Given the description of an element on the screen output the (x, y) to click on. 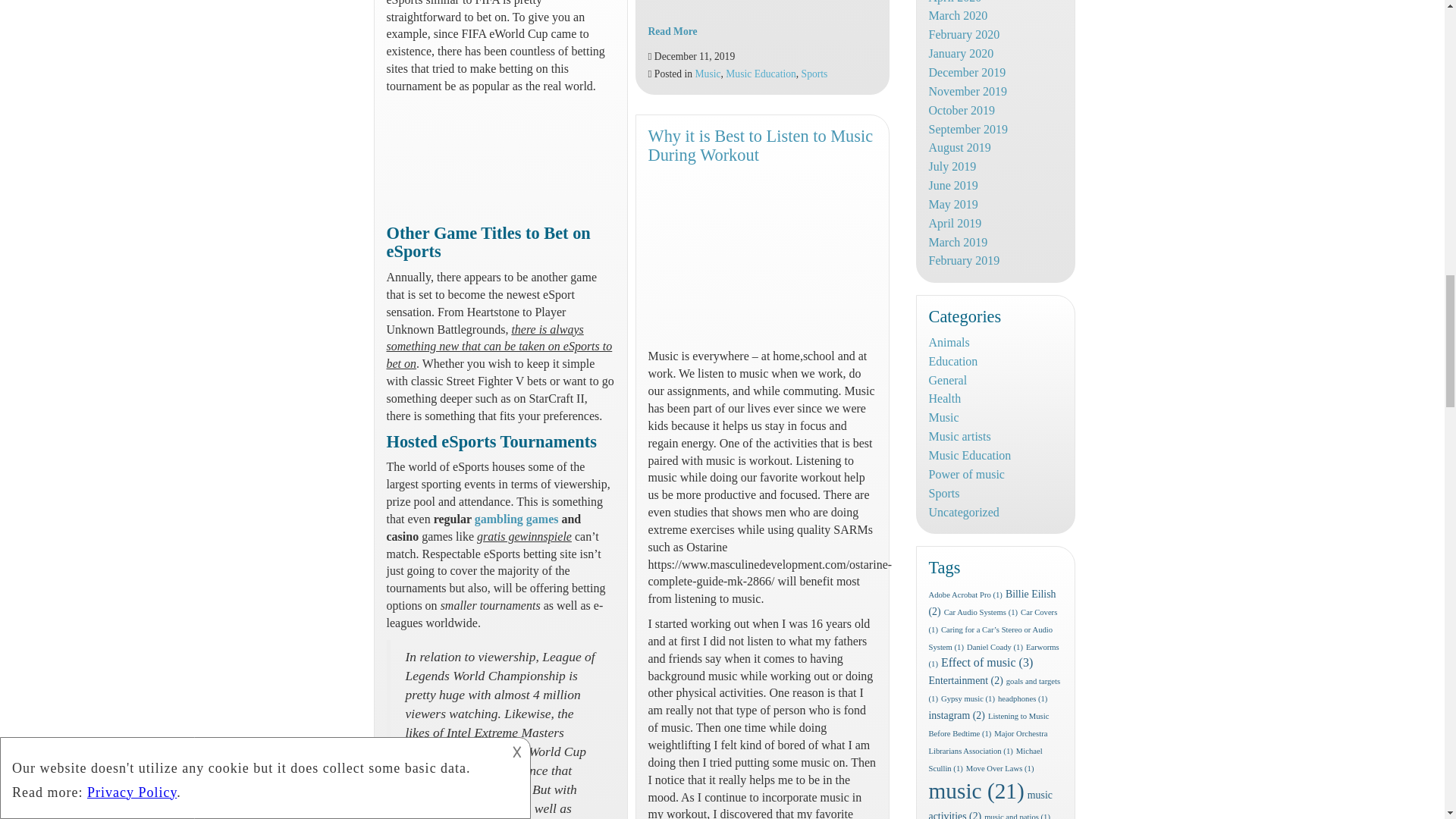
10 Sports Betting Tips to Make Better Sports Picks in 2023 (488, 160)
gambling games (516, 518)
